Given the description of an element on the screen output the (x, y) to click on. 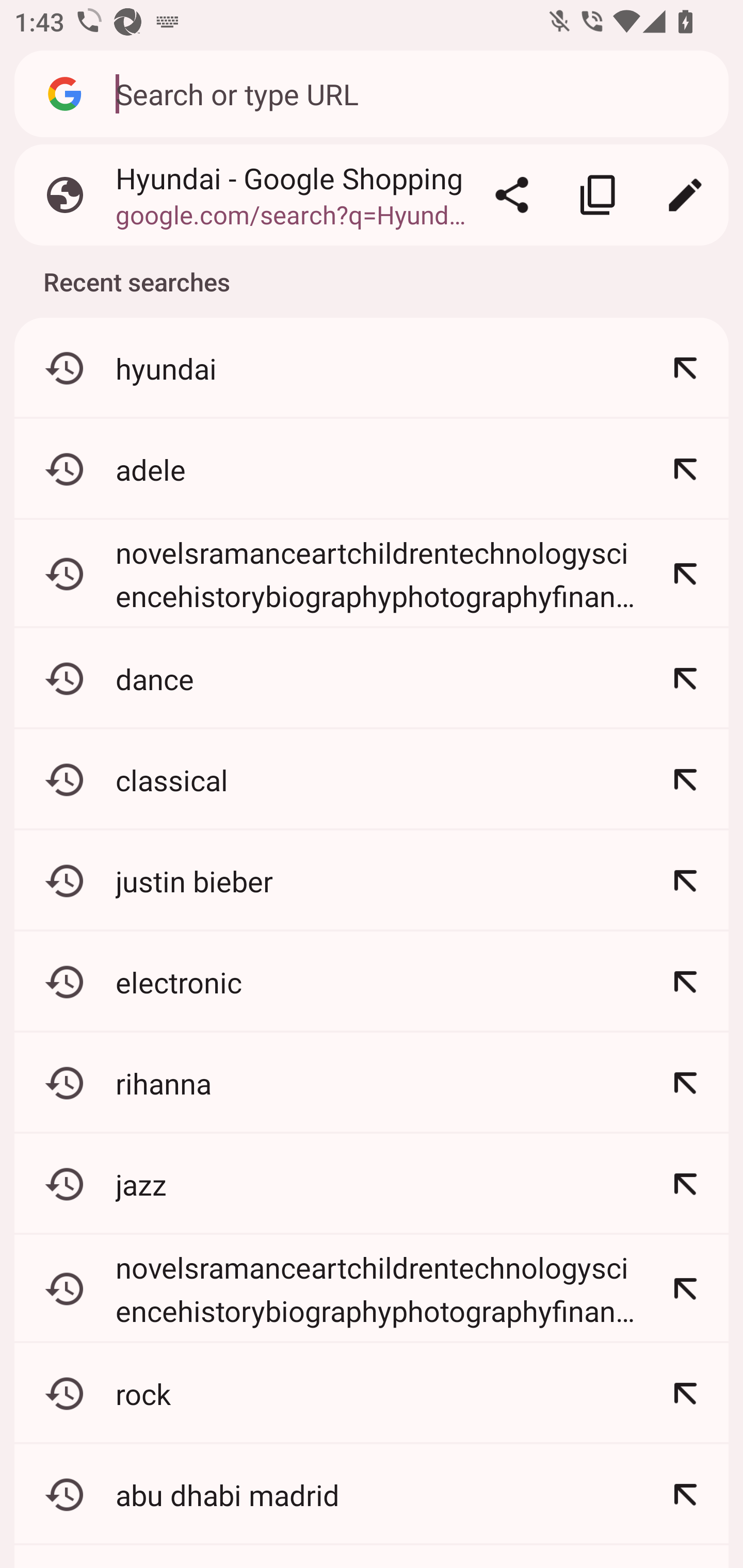
Search or type URL (410, 92)
Share… (511, 195)
Copy link (598, 195)
Edit (684, 195)
hyundai Refine: hyundai (371, 368)
Refine: hyundai (684, 368)
adele Refine: adele (371, 469)
Refine: adele (684, 469)
dance Refine: dance (371, 678)
Refine: dance (684, 678)
classical Refine: classical (371, 780)
Refine: classical (684, 780)
justin bieber Refine: justin bieber (371, 881)
Refine: justin bieber (684, 881)
electronic Refine: electronic (371, 982)
Refine: electronic (684, 982)
rihanna Refine: rihanna (371, 1083)
Refine: rihanna (684, 1083)
jazz Refine: jazz (371, 1184)
Refine: jazz (684, 1184)
rock Refine: rock (371, 1393)
Refine: rock (684, 1393)
abu dhabi madrid Refine: abu dhabi madrid (371, 1495)
Refine: abu dhabi madrid (684, 1495)
